Given the description of an element on the screen output the (x, y) to click on. 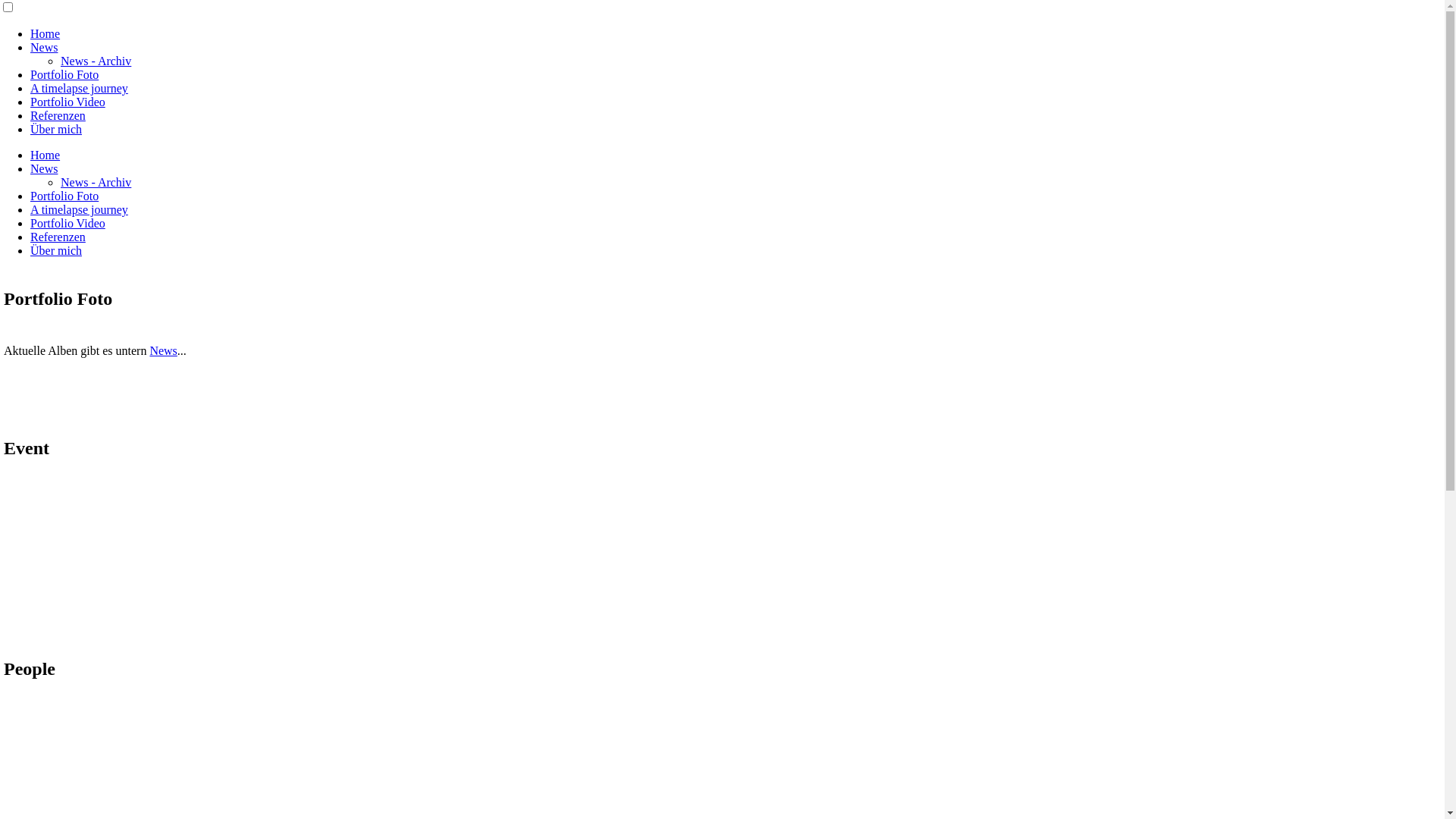
Home Element type: text (44, 33)
News Element type: text (43, 46)
Referenzen Element type: text (57, 115)
News Element type: text (43, 168)
News - Archiv Element type: text (95, 60)
Portfolio Foto Element type: text (64, 74)
A timelapse journey Element type: text (79, 87)
News Element type: text (162, 350)
Home Element type: text (44, 154)
A timelapse journey Element type: text (79, 209)
Portfolio Video Element type: text (67, 101)
Portfolio Video Element type: text (67, 222)
News - Archiv Element type: text (95, 181)
Referenzen Element type: text (57, 236)
Portfolio Foto Element type: text (64, 195)
